Given the description of an element on the screen output the (x, y) to click on. 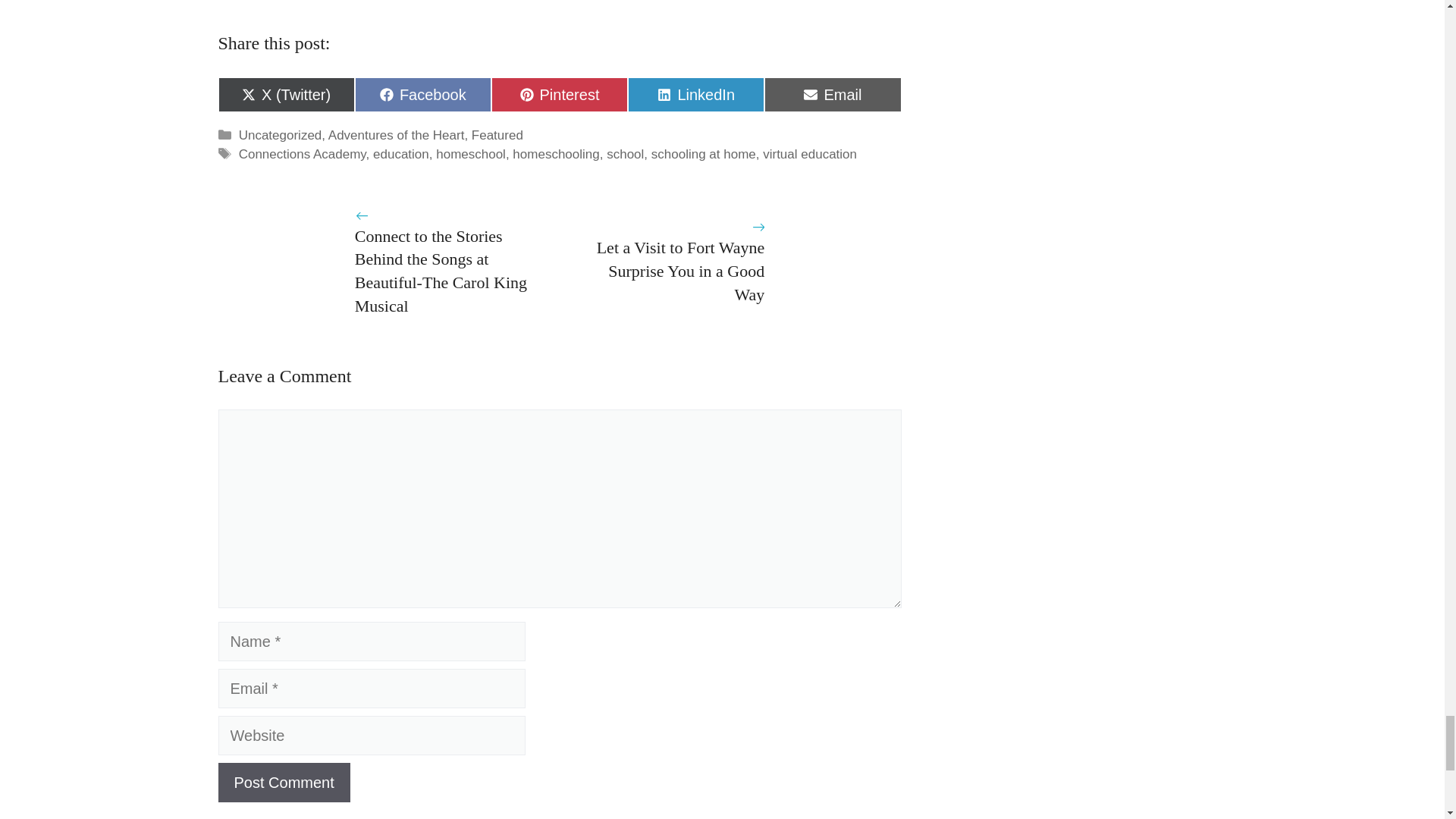
Post Comment (284, 782)
